Given the description of an element on the screen output the (x, y) to click on. 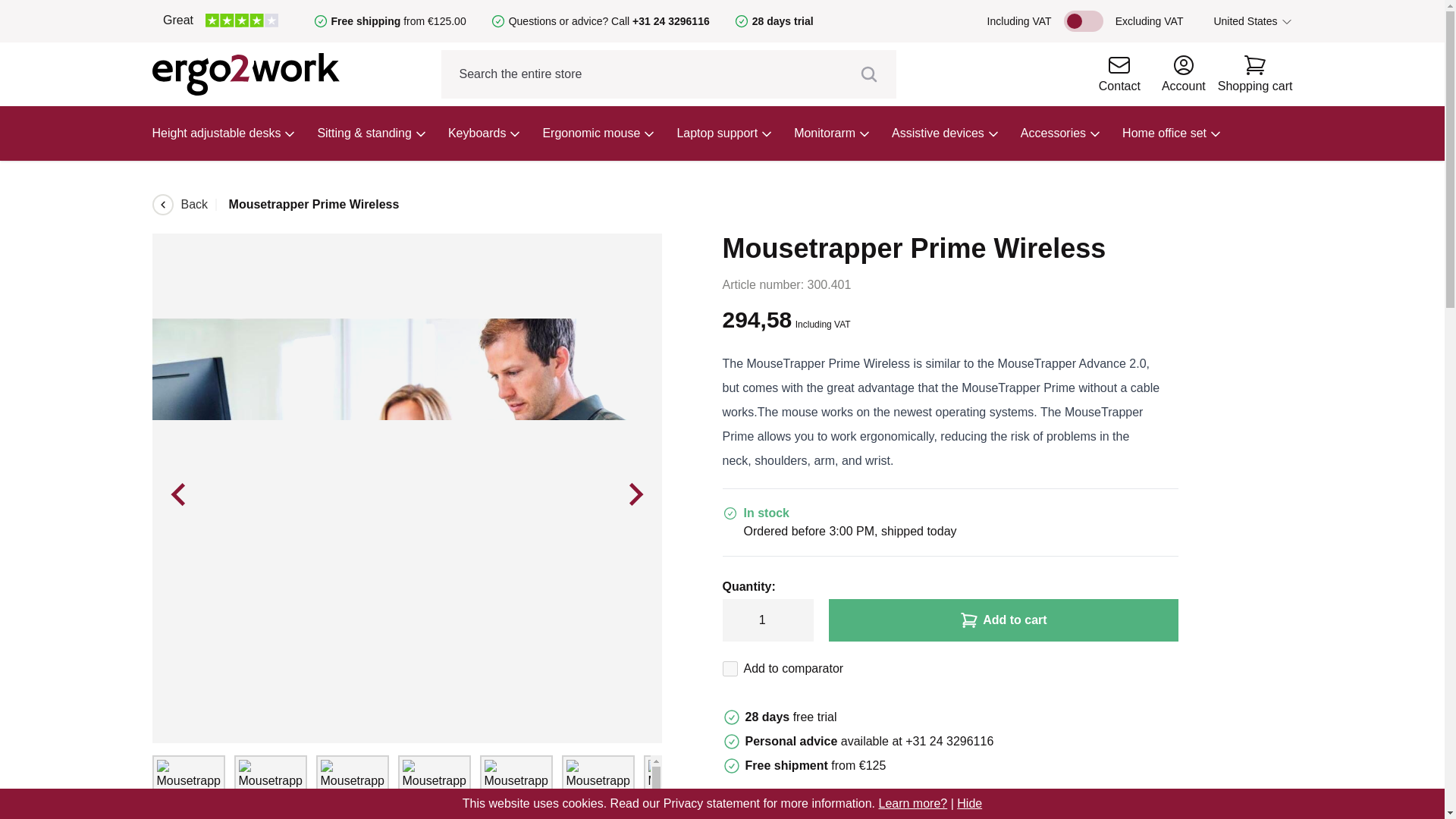
Customer reviews powered by Trustpilot (219, 20)
on (729, 668)
1 (767, 619)
